Given the description of an element on the screen output the (x, y) to click on. 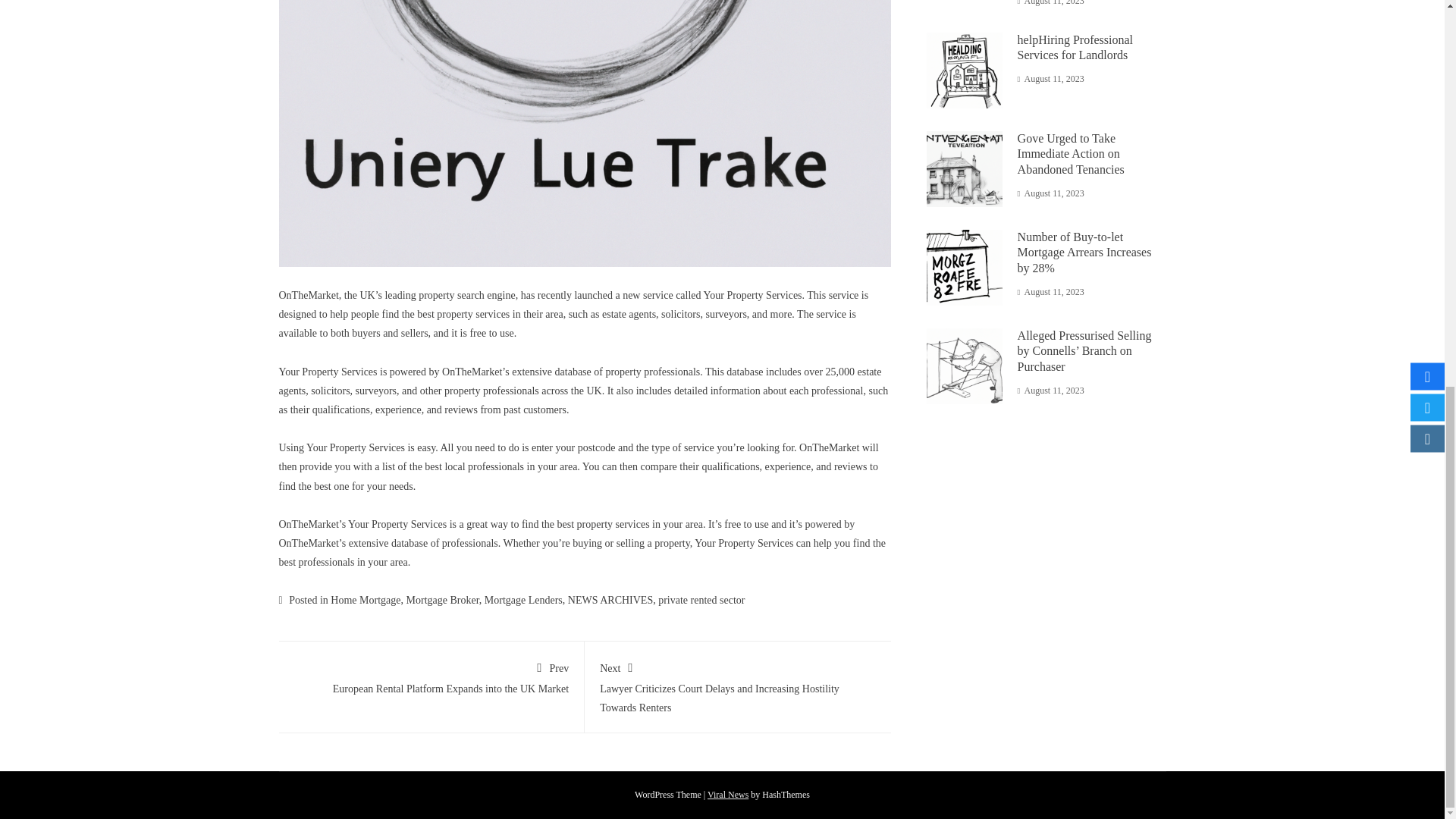
Mortgage Lenders (523, 600)
private rented sector (701, 600)
Gove Urged to Take Immediate Action on Abandoned Tenancies (1070, 153)
NEWS ARCHIVES (431, 675)
Download Viral News (609, 600)
Viral News (727, 794)
helpHiring Professional Services for Landlords (727, 794)
Mortgage Broker (1074, 47)
Home Mortgage (442, 600)
